Given the description of an element on the screen output the (x, y) to click on. 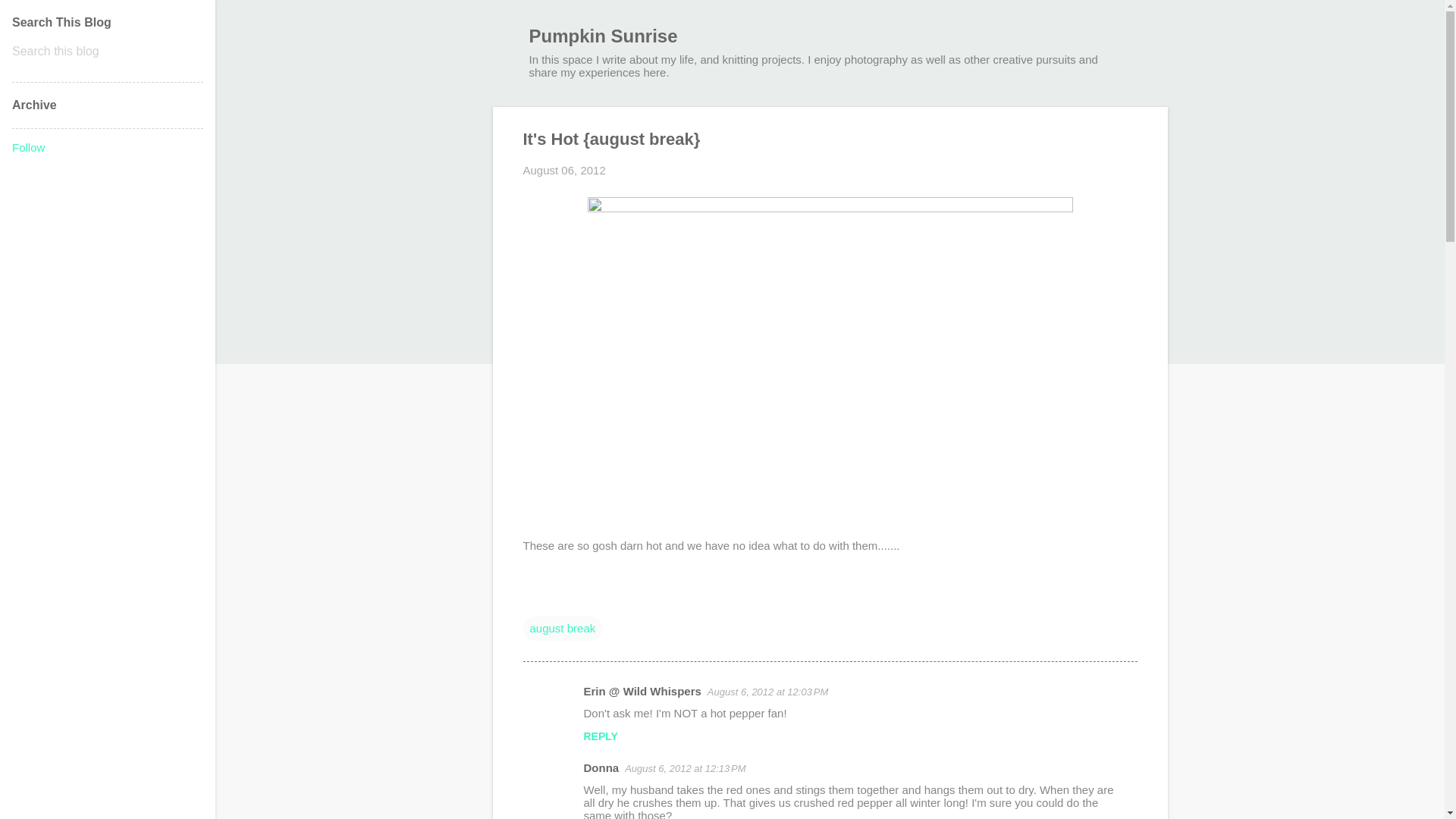
permanent link (563, 169)
REPLY (600, 736)
Pumpkin Sunrise (603, 35)
Email Post (531, 597)
August 06, 2012 (563, 169)
august break (562, 627)
Search (29, 18)
Donna (601, 767)
